Given the description of an element on the screen output the (x, y) to click on. 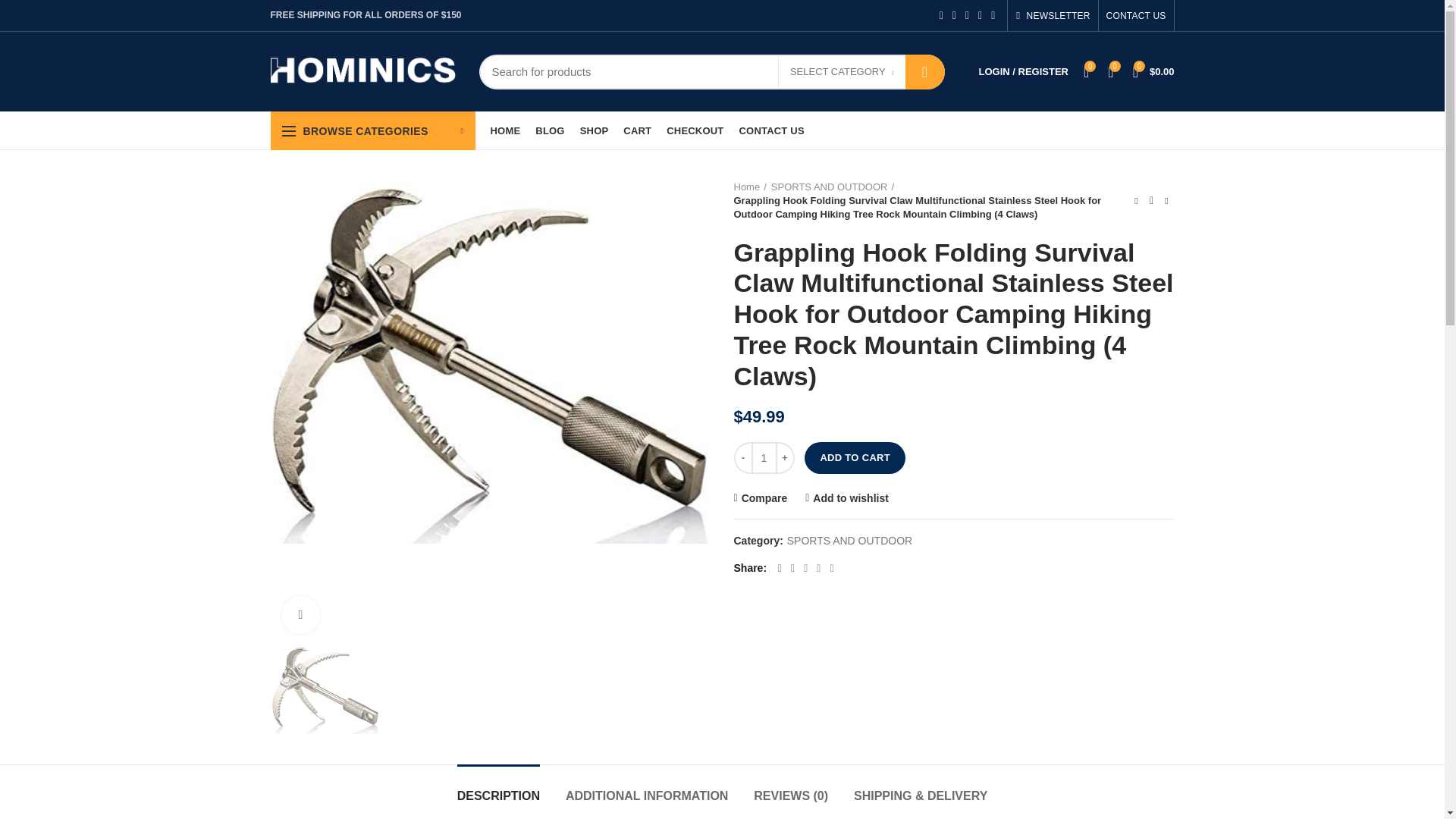
Shopping cart (1153, 71)
CART (637, 130)
BLOG (549, 130)
My account (1023, 71)
SEARCH (924, 71)
CONTACT US (770, 130)
CHECKOUT (694, 130)
SHOP (593, 130)
NEWSLETTER (1052, 15)
SELECT CATEGORY (841, 72)
